Given the description of an element on the screen output the (x, y) to click on. 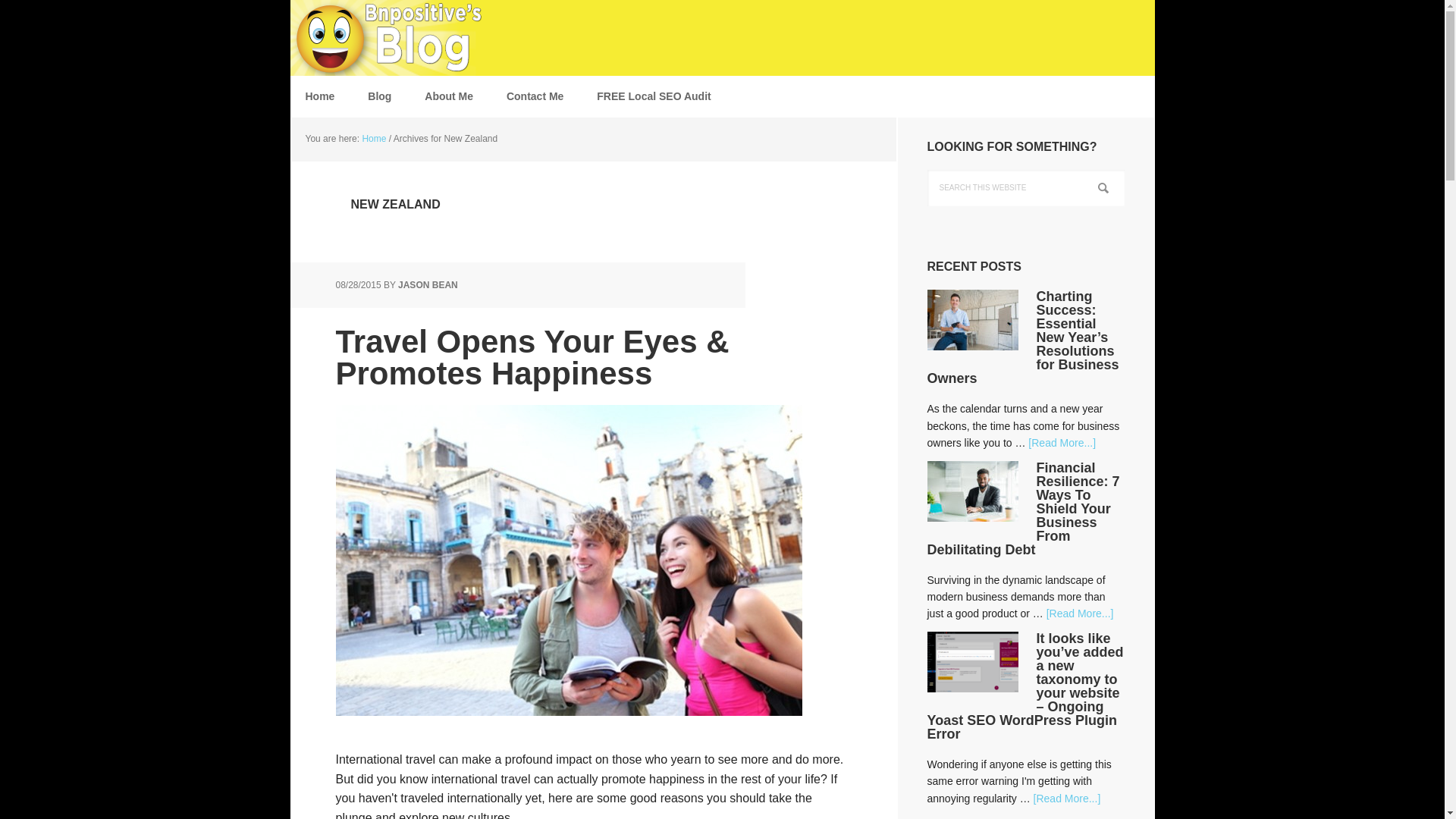
JASON BEAN (427, 285)
Home (373, 138)
About Me (448, 96)
Get Your FREE Local Business SEO Audit (652, 96)
Home (319, 96)
Contact Me (535, 96)
FREE Local SEO Audit (652, 96)
Bnpositives Blog (387, 38)
Blog (379, 96)
